Given the description of an element on the screen output the (x, y) to click on. 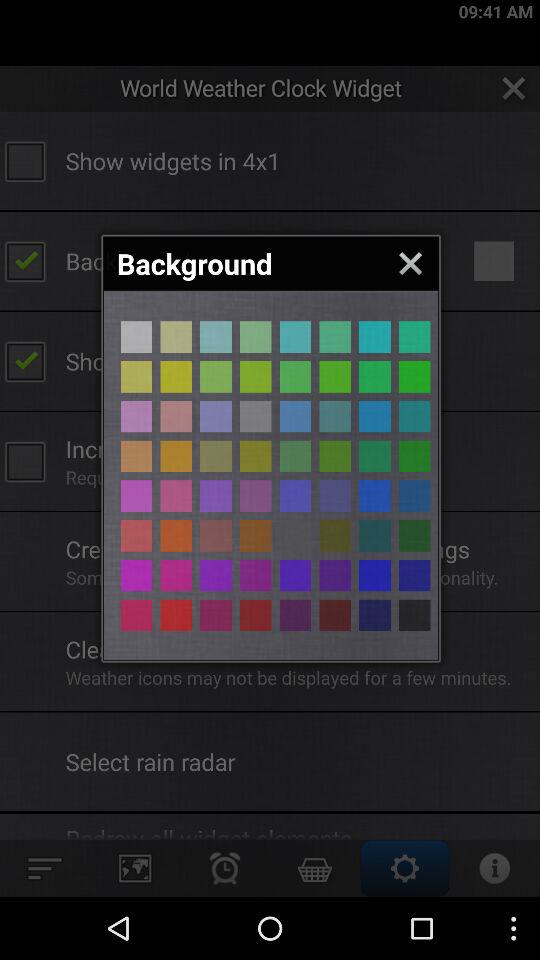
the button is used to color option (414, 615)
